Given the description of an element on the screen output the (x, y) to click on. 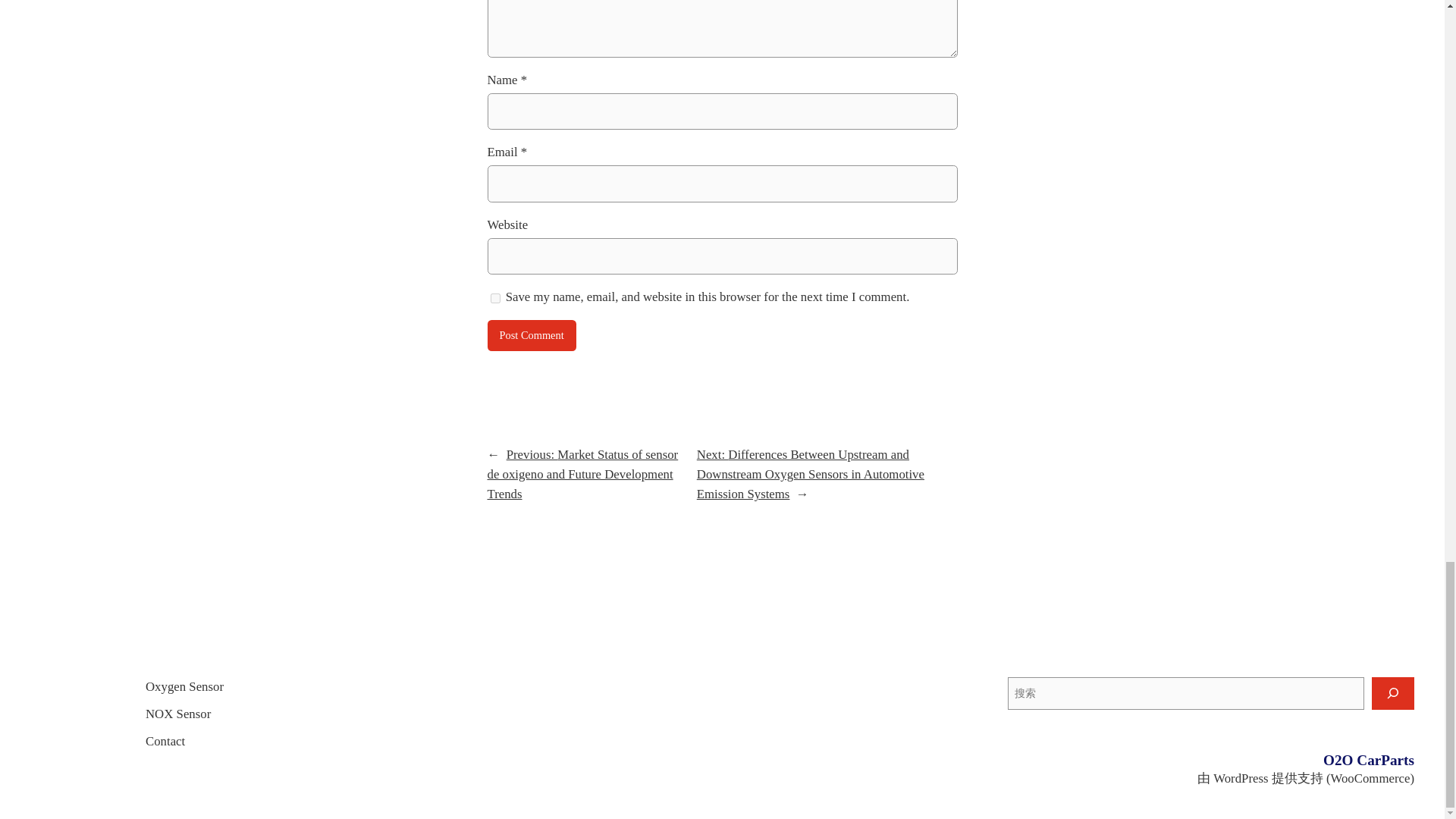
Oxygen Sensor (184, 686)
Post Comment (530, 336)
Contact (164, 741)
NOX Sensor (178, 713)
Post Comment (530, 336)
O2O CarParts (1368, 760)
